Given the description of an element on the screen output the (x, y) to click on. 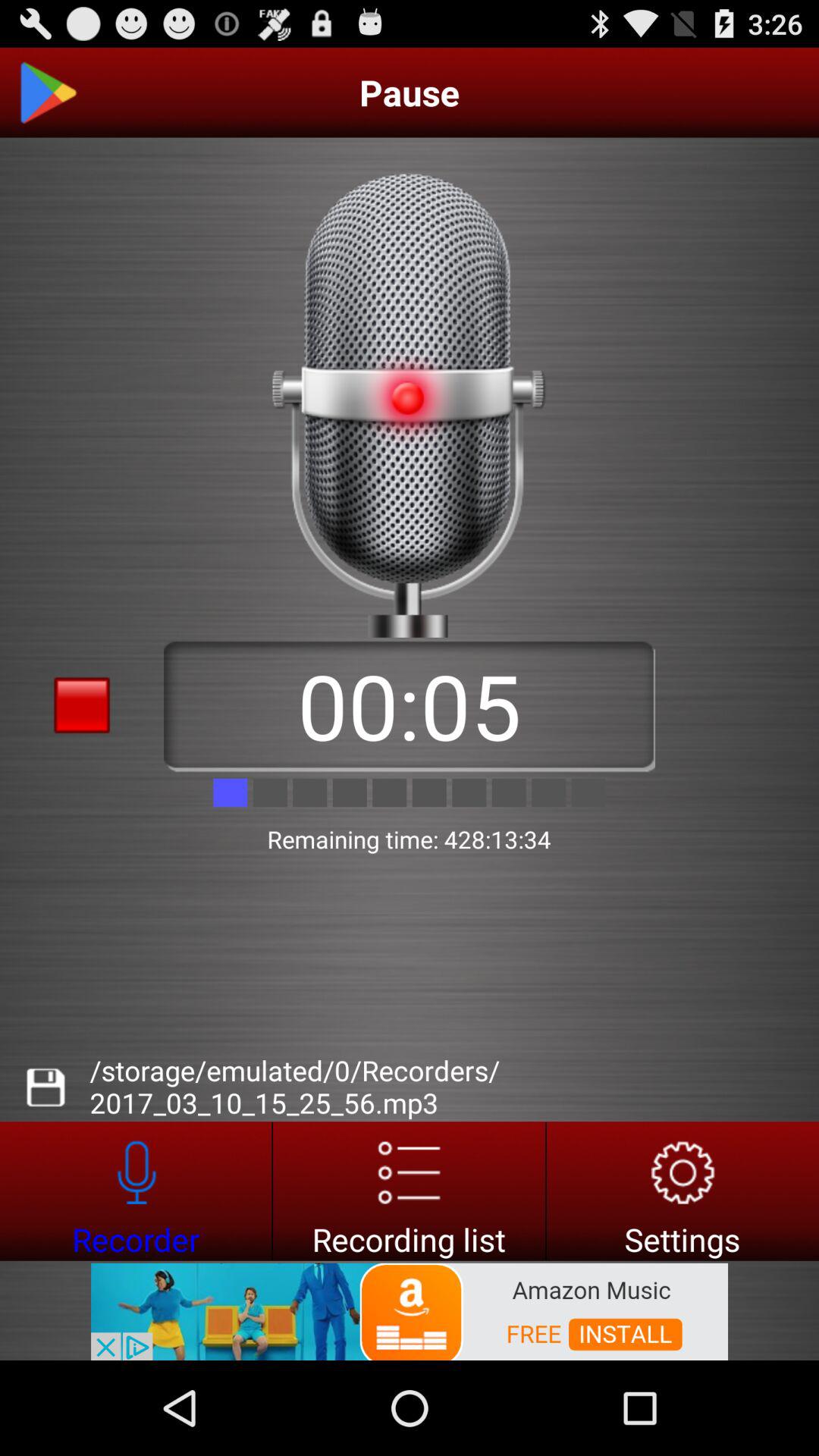
close advertisement (81, 1335)
